Given the description of an element on the screen output the (x, y) to click on. 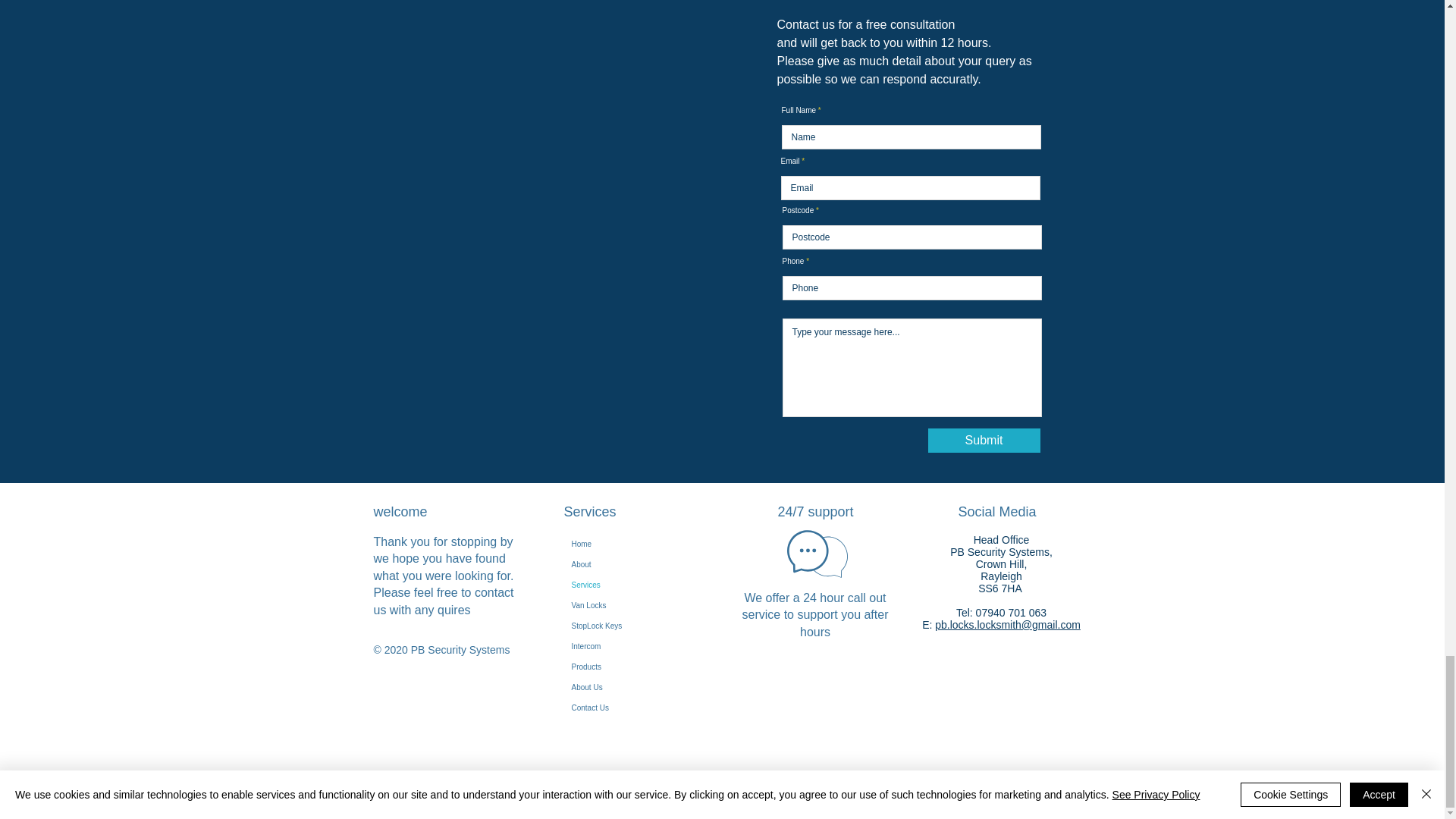
Services (631, 584)
StopLock Keys (631, 625)
Home (631, 543)
Submit (984, 440)
Van Locks (631, 605)
About (631, 564)
